Given the description of an element on the screen output the (x, y) to click on. 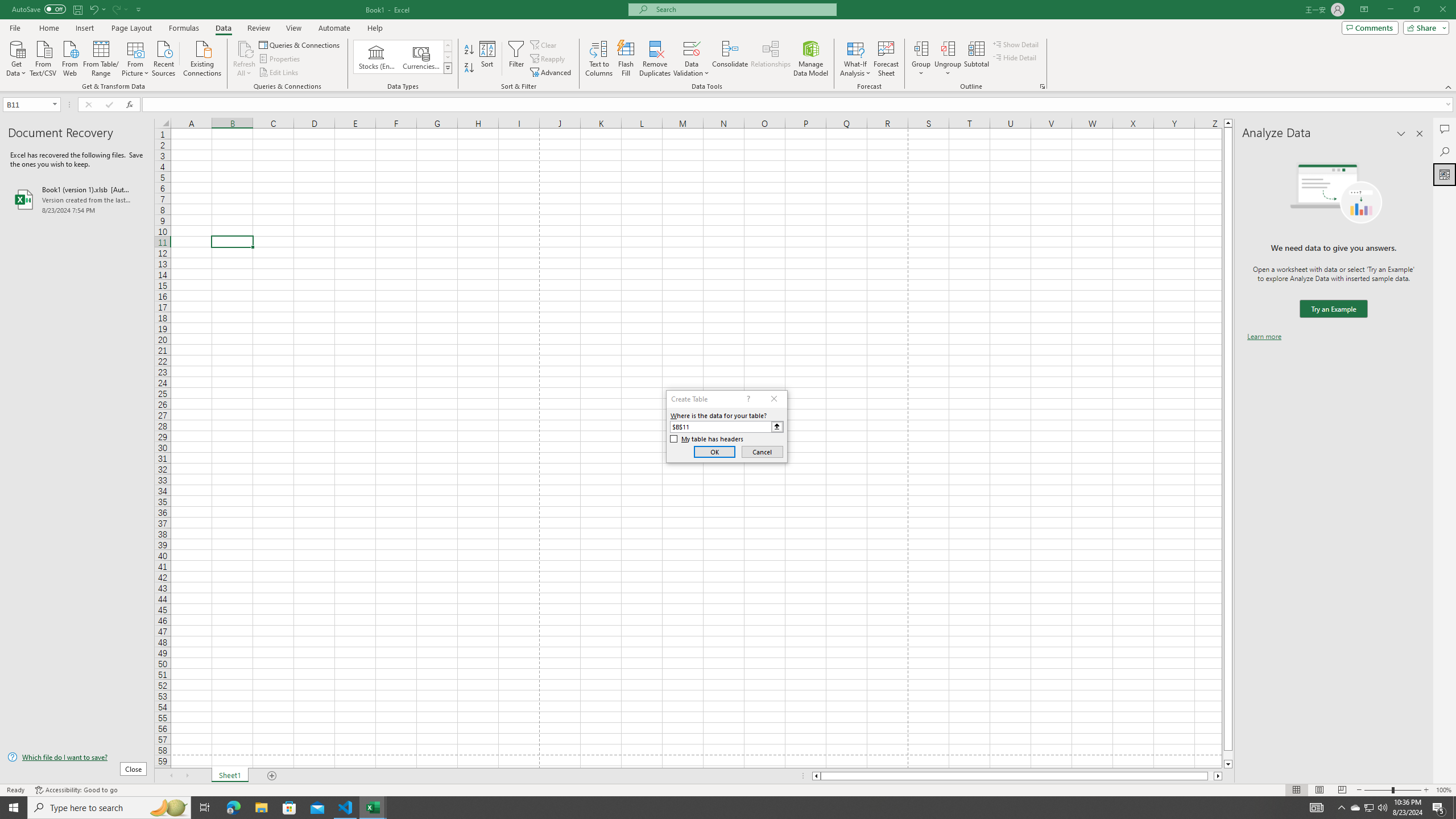
Which file do I want to save? (77, 757)
We need data to give you answers. Try an Example (1333, 308)
Data Types (448, 67)
Subtotal (976, 58)
From Text/CSV (43, 57)
Group and Outline Settings (1042, 85)
Close pane (1419, 133)
